Given the description of an element on the screen output the (x, y) to click on. 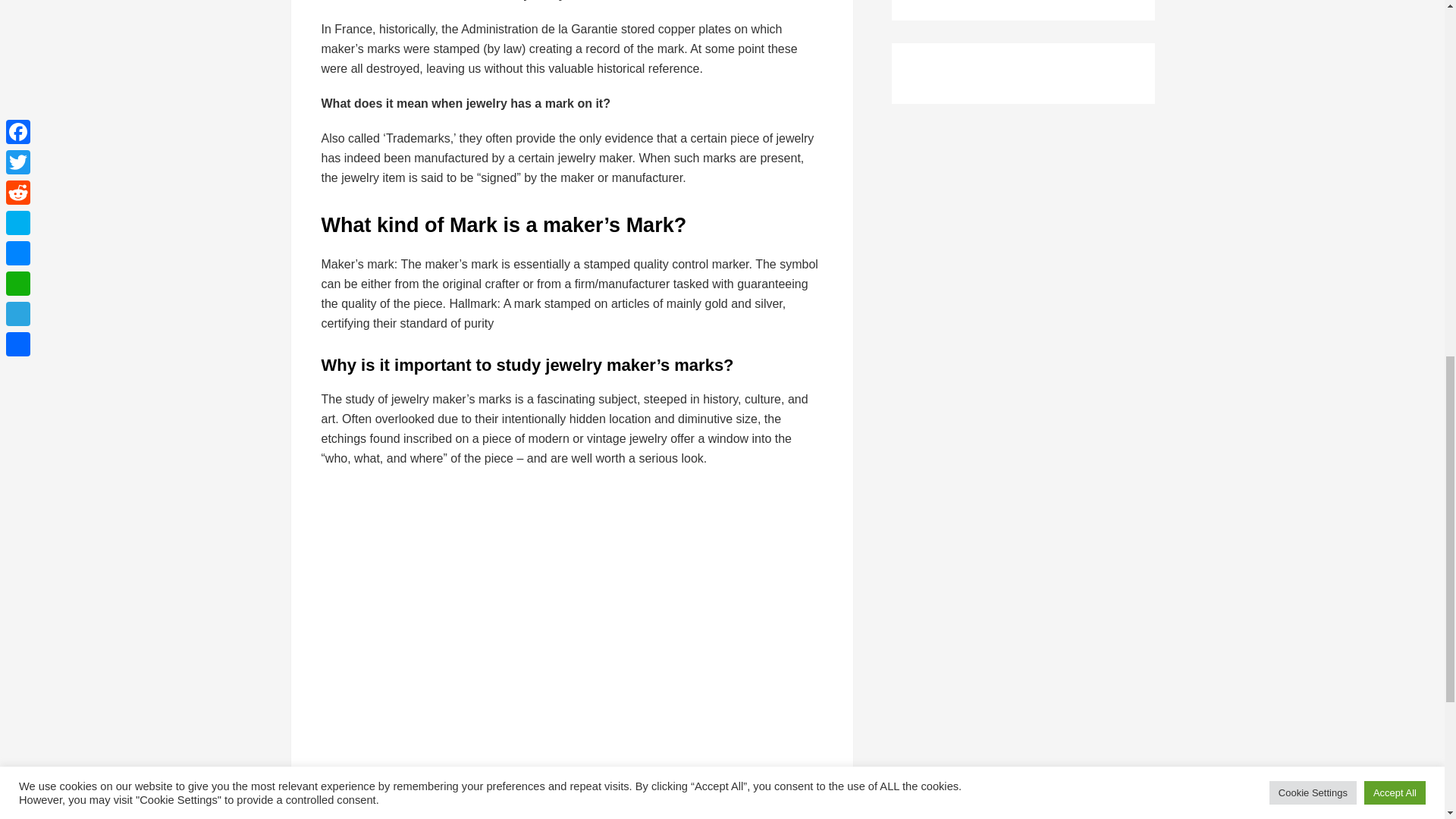
Messenger (457, 791)
Reddit (396, 791)
Skype (427, 791)
Telegram (518, 791)
WhatsApp (488, 791)
Twitter (366, 791)
Reddit (396, 791)
Twitter (366, 791)
Facebook (336, 791)
How to recognize Jewelry marks and know what they mean. (563, 620)
Messenger (457, 791)
WhatsApp (488, 791)
Skype (427, 791)
Share (549, 791)
Facebook (336, 791)
